Given the description of an element on the screen output the (x, y) to click on. 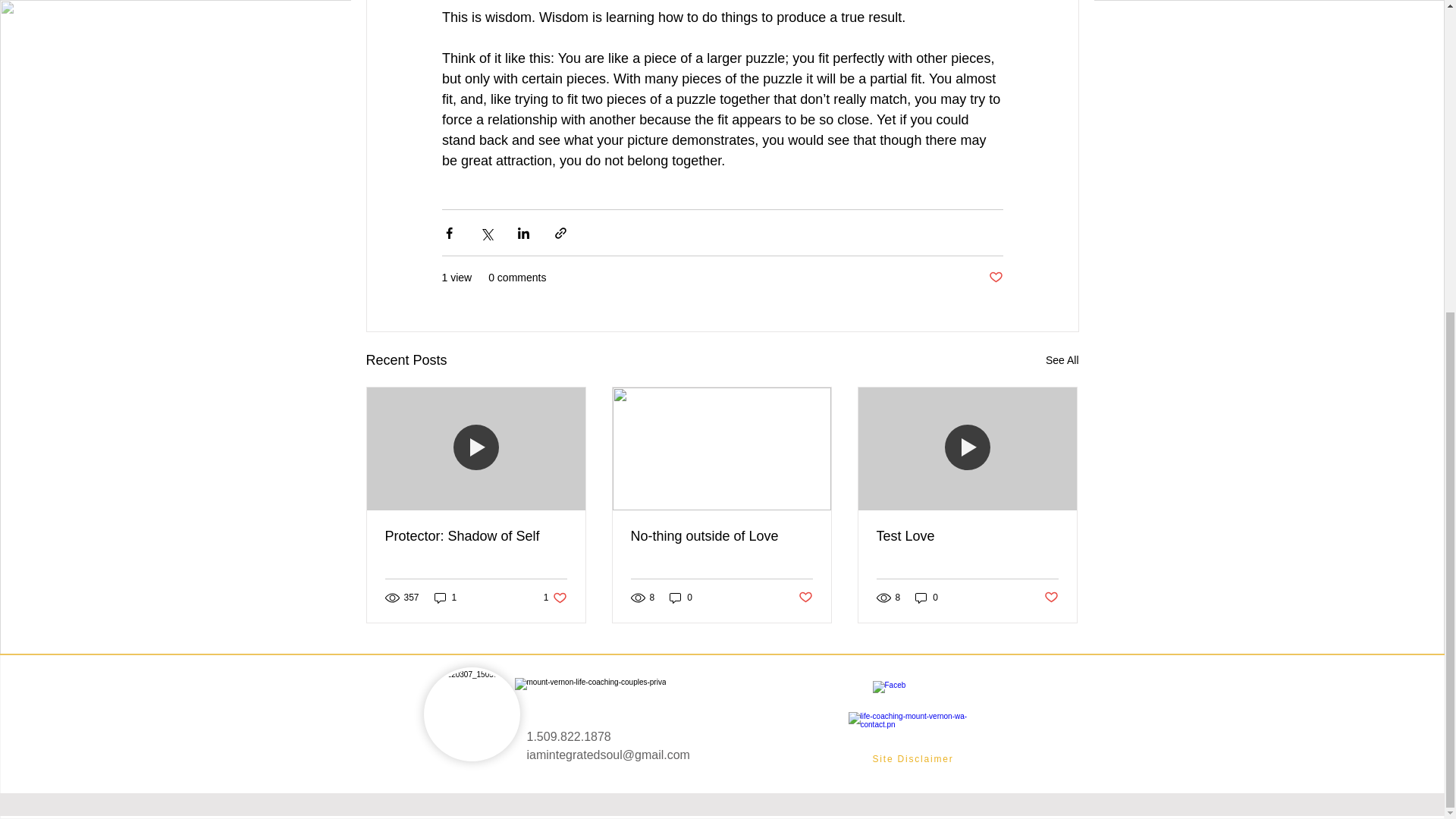
Post not marked as liked (804, 597)
No-thing outside of Love (721, 536)
Protector: Shadow of Self (476, 536)
0 (681, 596)
Facebook Like (933, 694)
See All (1061, 360)
1 (555, 596)
1.509.822.1878 (445, 596)
Test Love (567, 736)
